Given the description of an element on the screen output the (x, y) to click on. 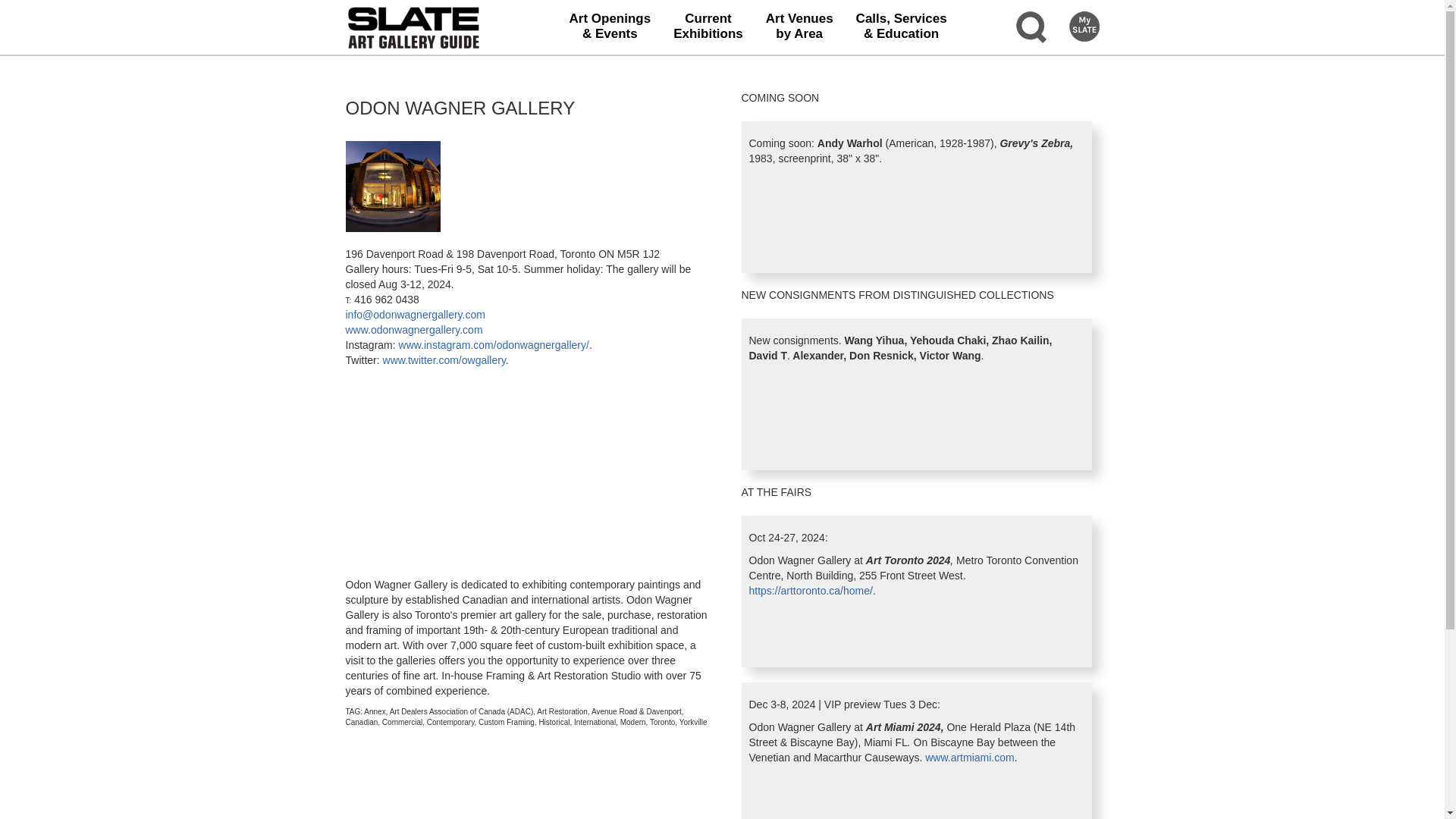
Odon Wagner Gallery (393, 185)
www.odonwagnergallery.com (414, 329)
Visit www.odonwagnergallery.com (708, 26)
www.artmiami.com (414, 329)
